Given the description of an element on the screen output the (x, y) to click on. 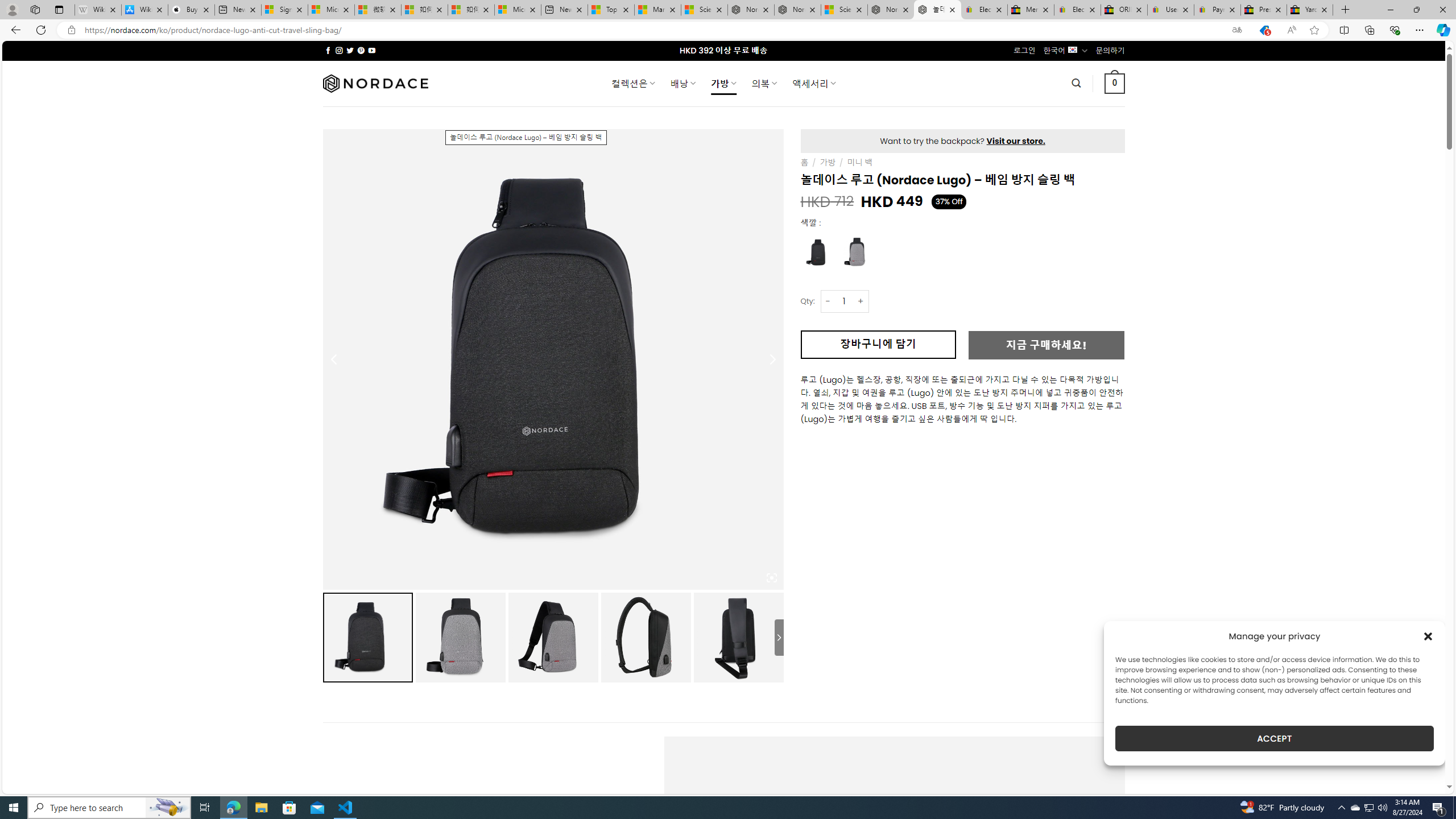
Follow on YouTube (371, 50)
Class: cmplz-close (1428, 636)
Follow on Twitter (349, 50)
+ (861, 300)
